Given the description of an element on the screen output the (x, y) to click on. 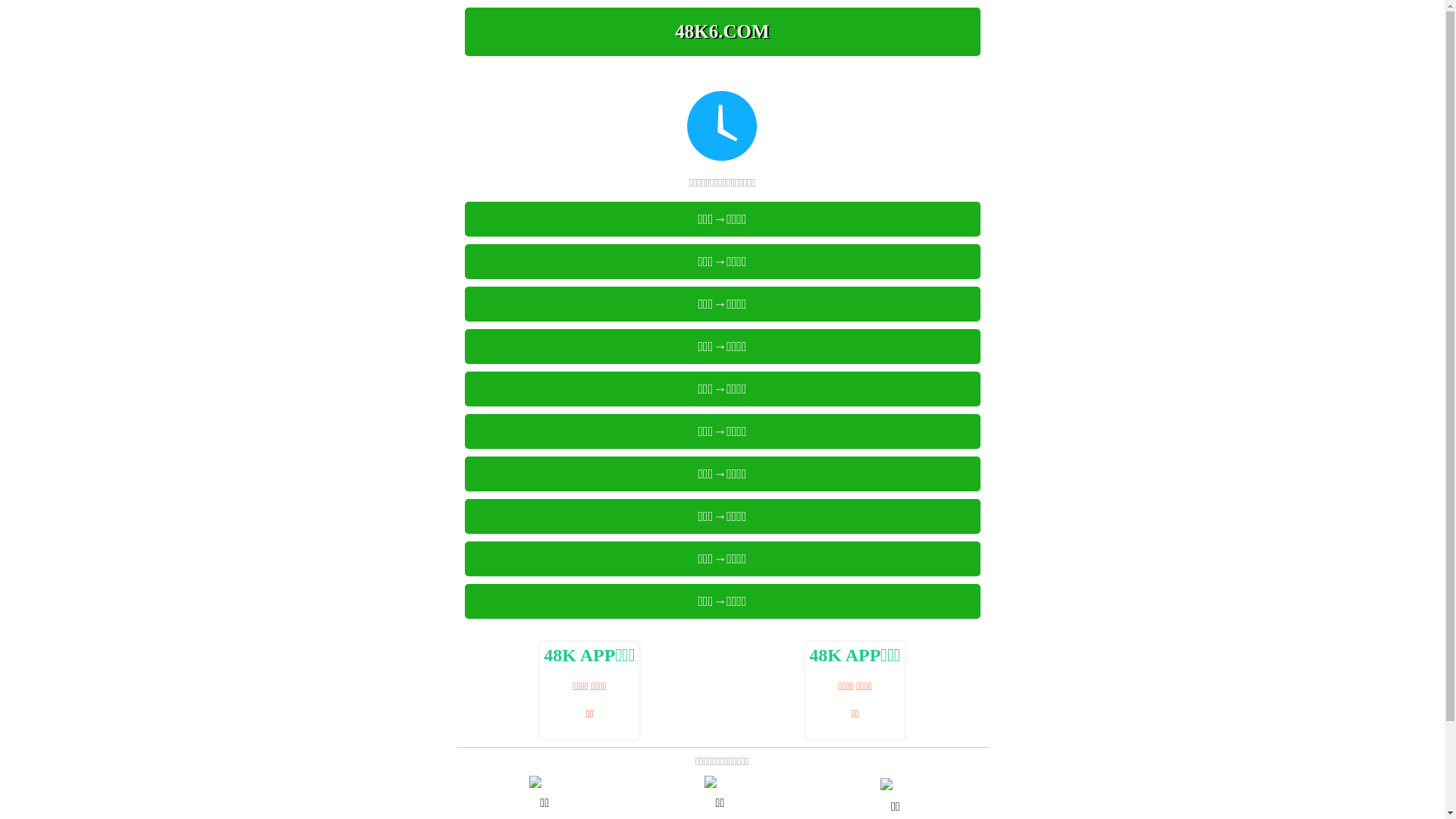
48K6.COM Element type: text (721, 31)
